Given the description of an element on the screen output the (x, y) to click on. 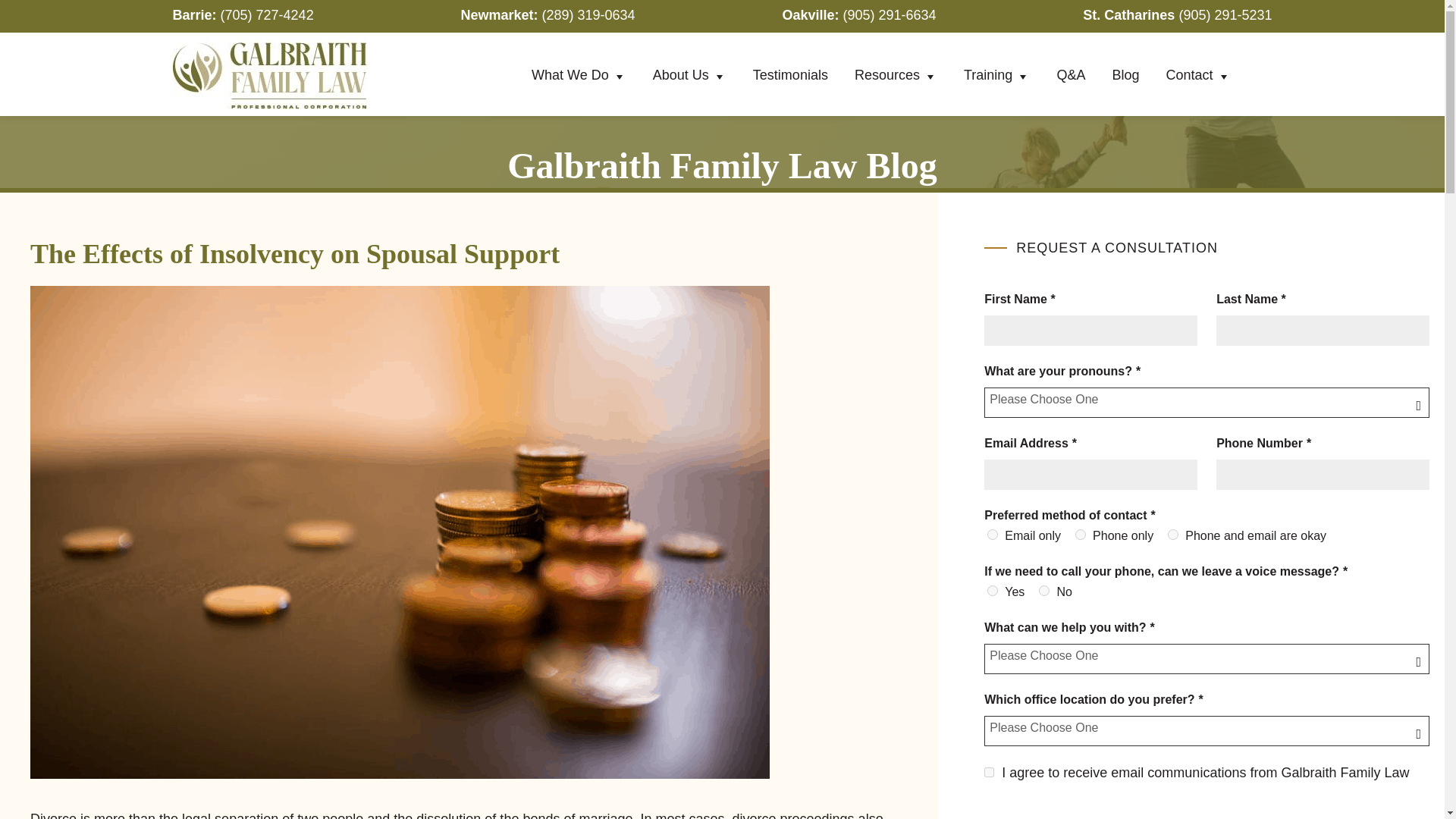
Testimonials (790, 74)
Resources (896, 75)
No (1044, 590)
Phone only (1080, 534)
About Us (690, 75)
What We Do (578, 75)
Email only (992, 534)
Yes (992, 590)
Phone and email are okay (1172, 534)
